Given the description of an element on the screen output the (x, y) to click on. 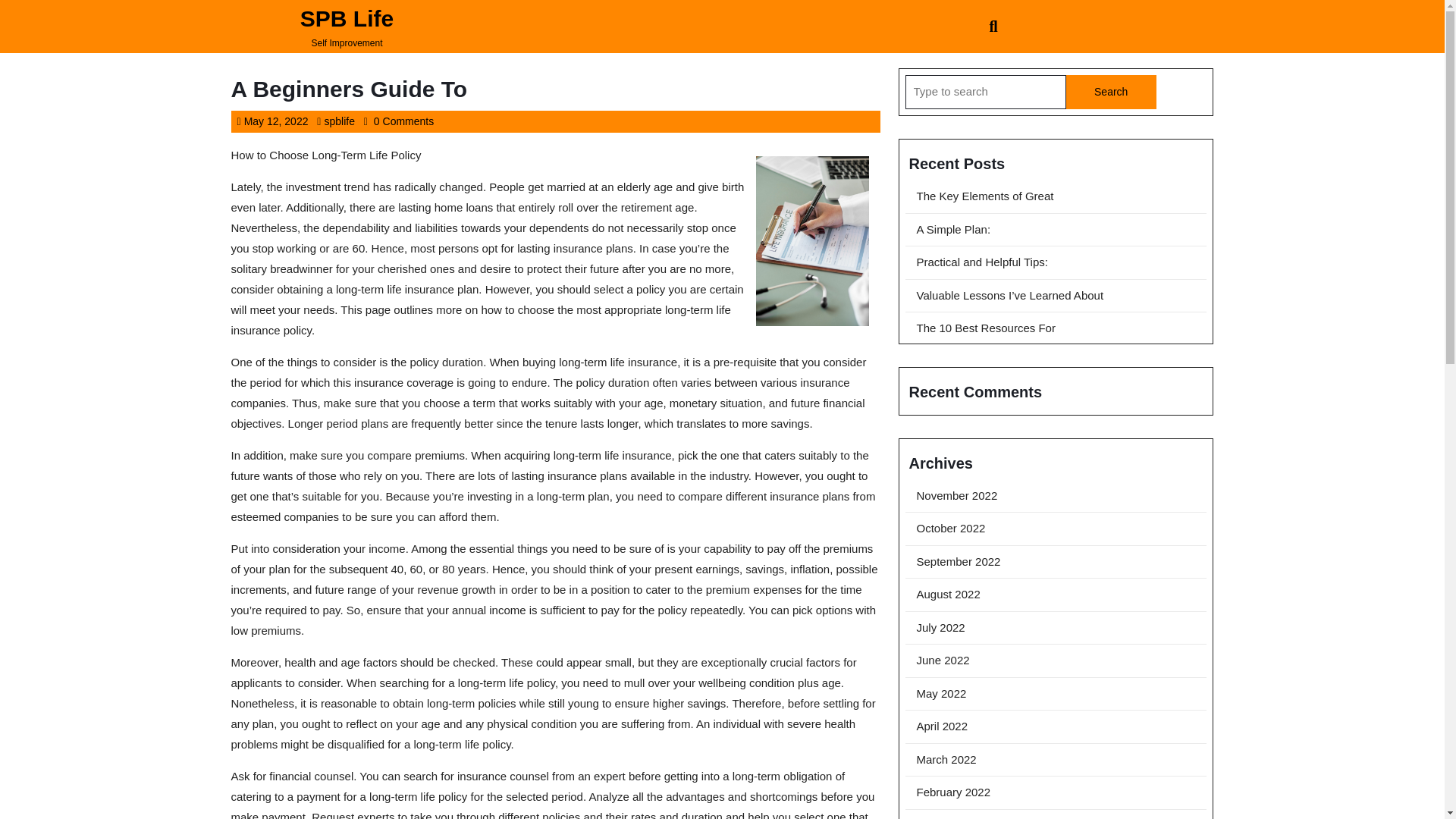
The 10 Best Resources For (276, 121)
April 2022 (984, 327)
February 2022 (338, 121)
October 2022 (941, 725)
The Key Elements of Great (952, 791)
Search (950, 527)
May 2022 (983, 195)
Practical and Helpful Tips: (1110, 91)
